Given the description of an element on the screen output the (x, y) to click on. 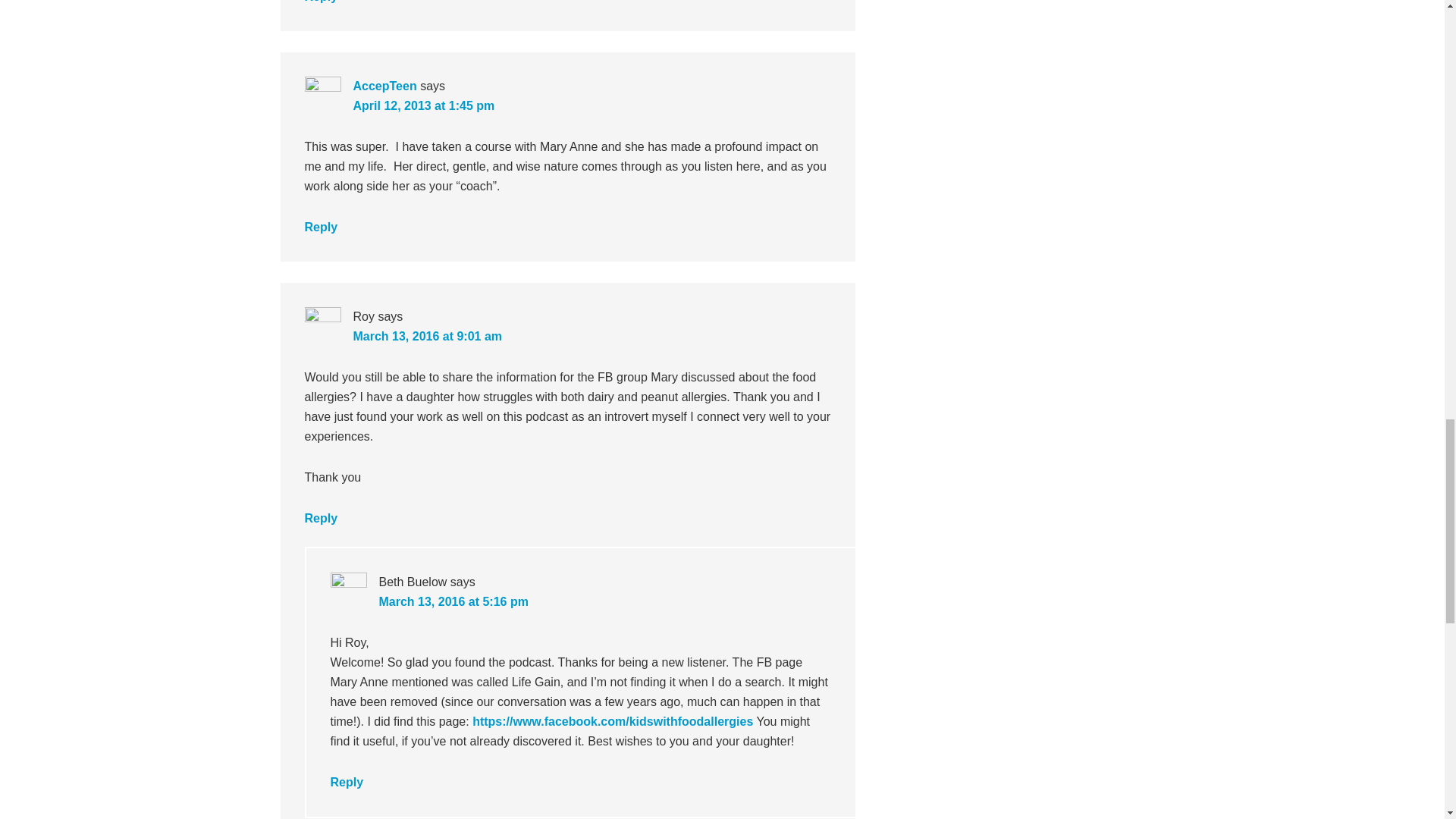
March 13, 2016 at 5:16 pm (453, 601)
April 12, 2013 at 1:45 pm (424, 105)
Reply (320, 226)
AccepTeen (384, 85)
Reply (320, 1)
Reply (320, 517)
March 13, 2016 at 9:01 am (427, 336)
